Given the description of an element on the screen output the (x, y) to click on. 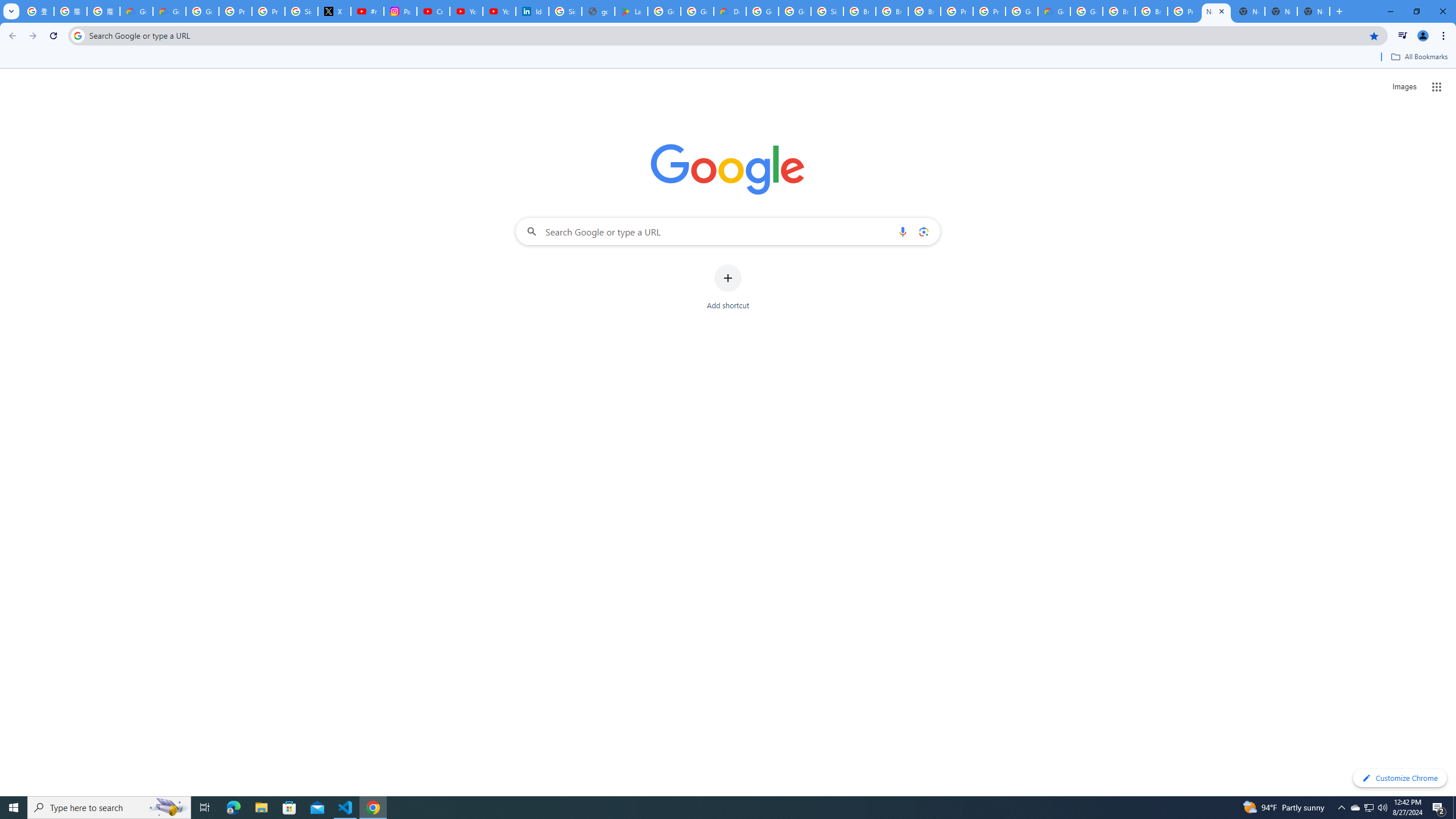
All Bookmarks (1418, 56)
Sign in - Google Accounts (564, 11)
Search icon (77, 35)
Browse Chrome as a guest - Computer - Google Chrome Help (859, 11)
Browse Chrome as a guest - Computer - Google Chrome Help (1150, 11)
Search for Images  (1403, 87)
New Tab (1216, 11)
New Tab (1313, 11)
